Given the description of an element on the screen output the (x, y) to click on. 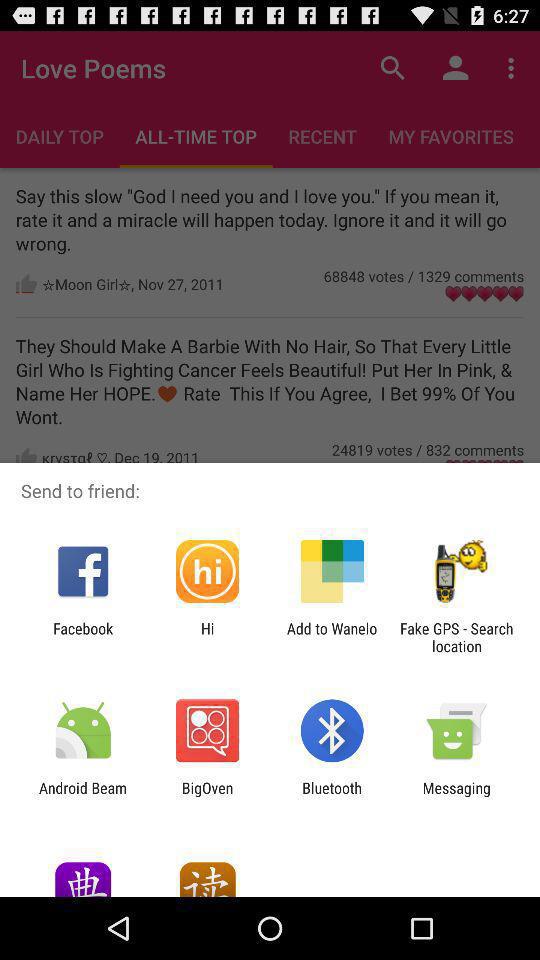
click the bigoven (207, 796)
